Given the description of an element on the screen output the (x, y) to click on. 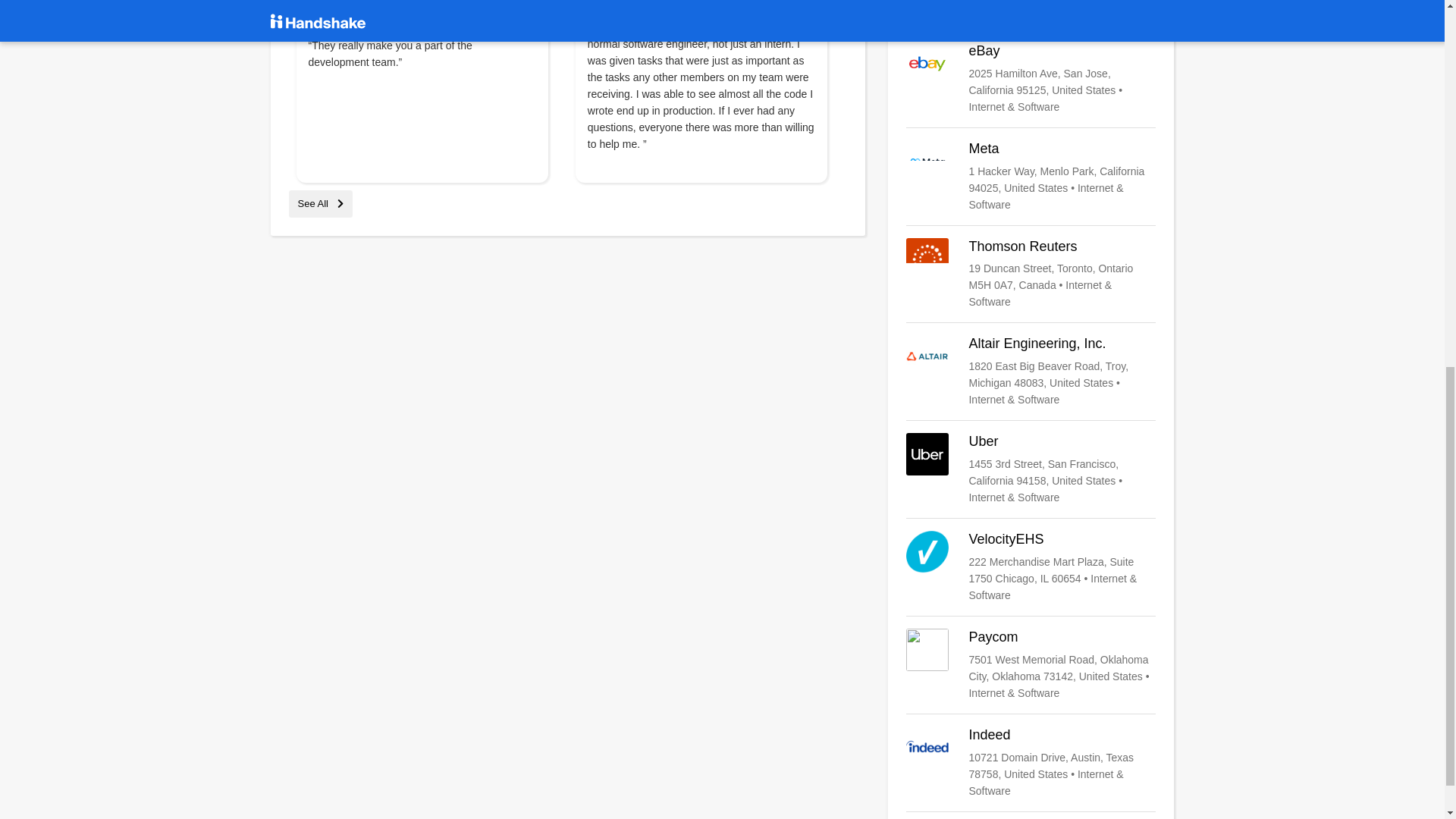
Indeed (1030, 762)
Handshake (1030, 8)
Altair Engineering, Inc. (1030, 370)
See All (320, 203)
Paycom (1030, 664)
Thomson Reuters (1030, 274)
Uber (1030, 469)
Meta (1030, 176)
VelocityEHS (1030, 566)
eBay (1030, 78)
